Given the description of an element on the screen output the (x, y) to click on. 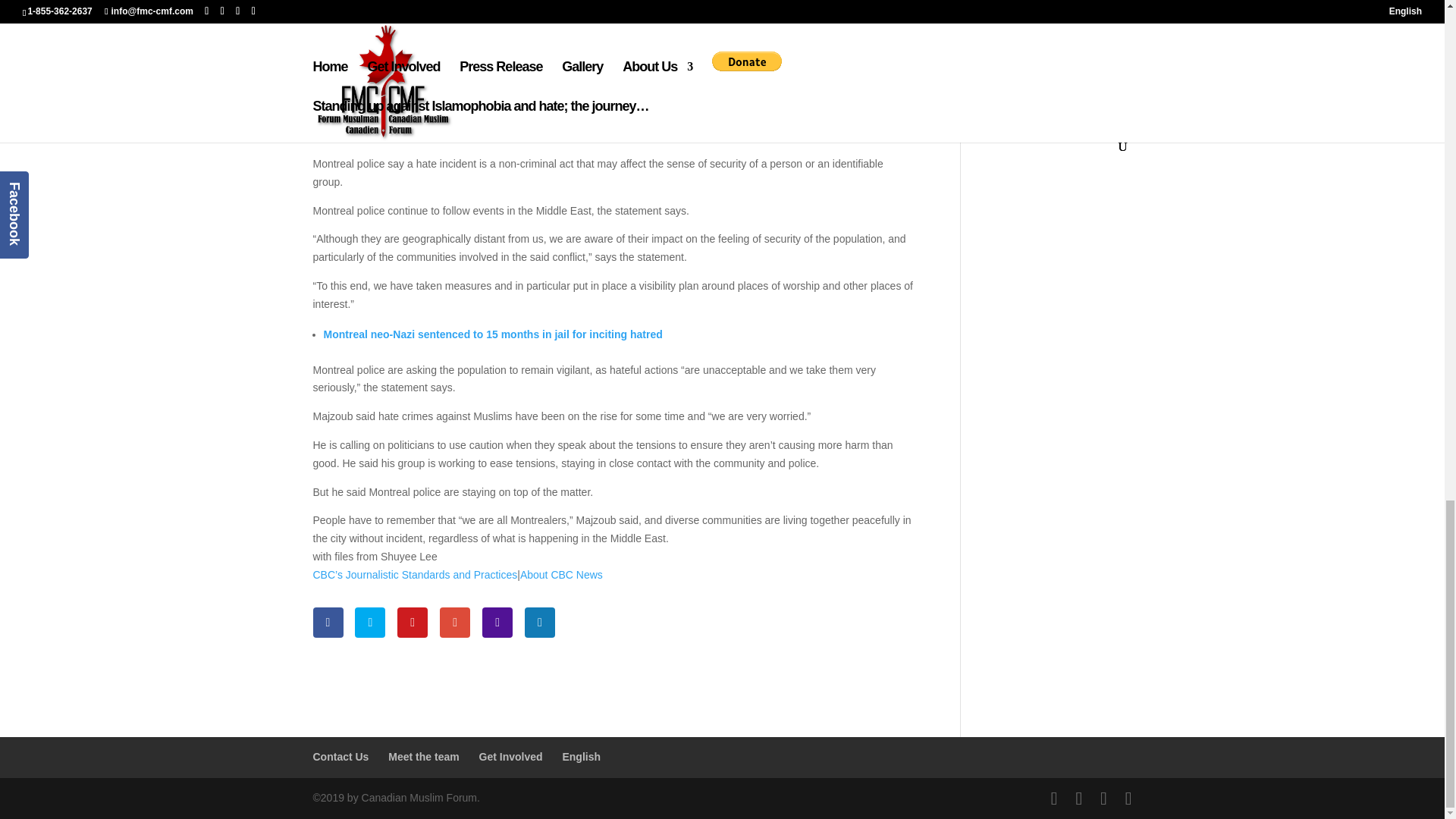
About CBC News (560, 574)
Meet the team (423, 756)
English (580, 757)
Contact Us (340, 756)
